Given the description of an element on the screen output the (x, y) to click on. 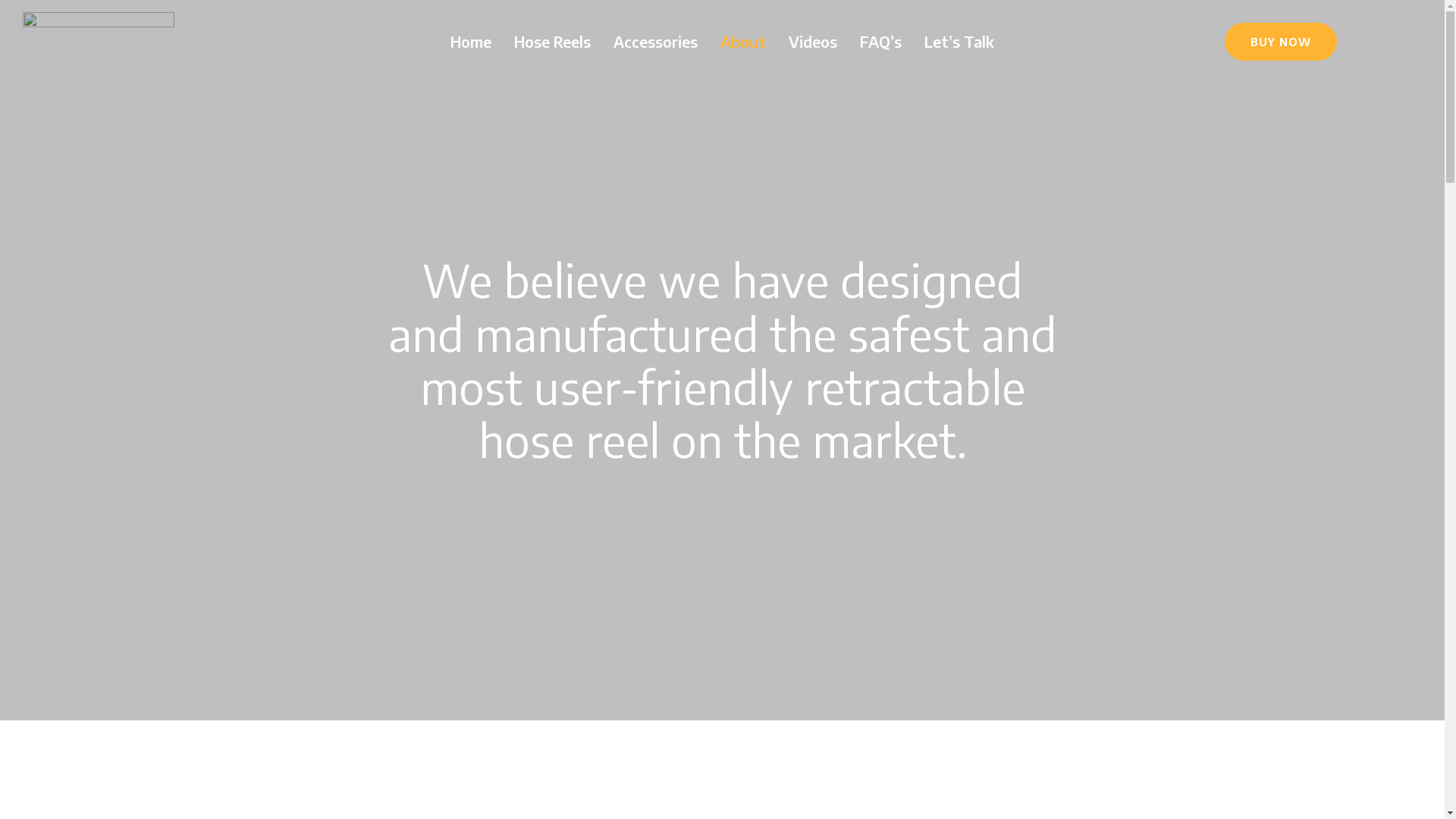
Accessories Element type: text (655, 41)
About Element type: text (742, 41)
Home Element type: text (470, 41)
Hose Reels Element type: text (552, 41)
Videos Element type: text (812, 41)
BUY NOW Element type: text (1280, 41)
